Given the description of an element on the screen output the (x, y) to click on. 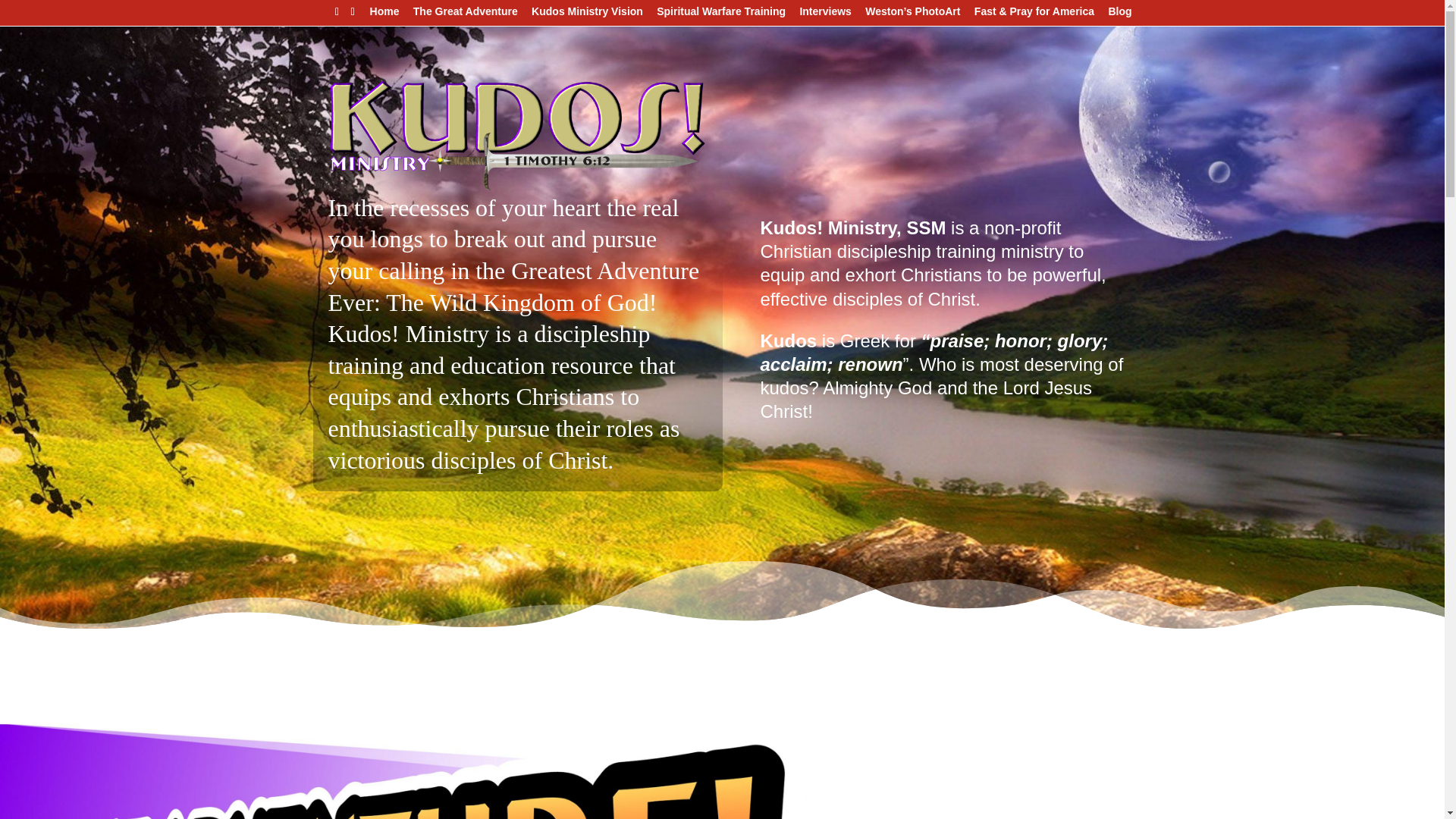
tga3 (409, 771)
Kudos Ministry Vision (587, 15)
Spiritual Warfare Training (721, 15)
Interviews (824, 15)
Home (383, 15)
Blog (1119, 15)
The Great Adventure (465, 15)
KUDOS Logo website (516, 135)
